Given the description of an element on the screen output the (x, y) to click on. 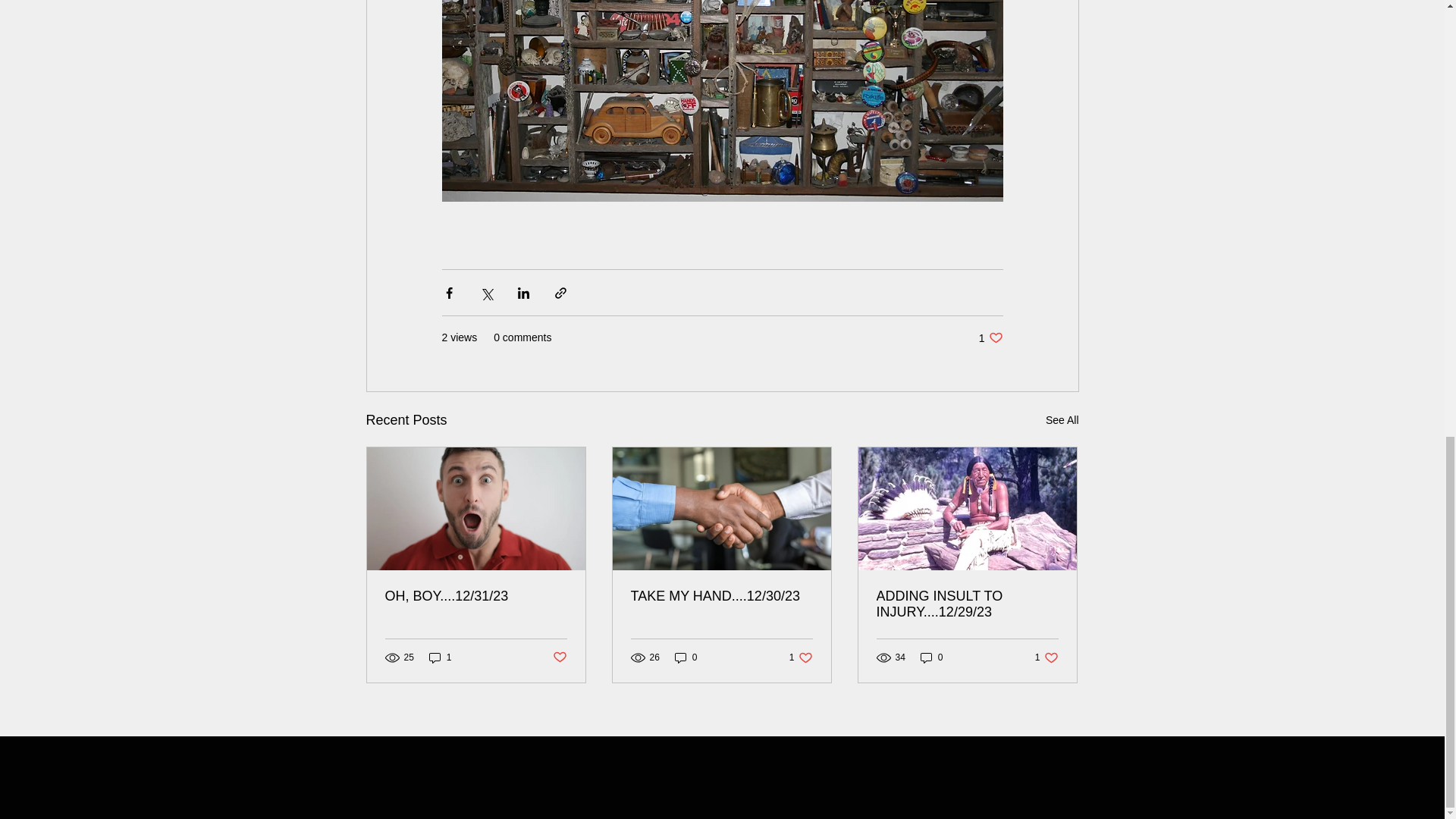
1 (440, 657)
See All (800, 657)
Post not marked as liked (1061, 420)
0 (558, 657)
0 (1046, 657)
